Given the description of an element on the screen output the (x, y) to click on. 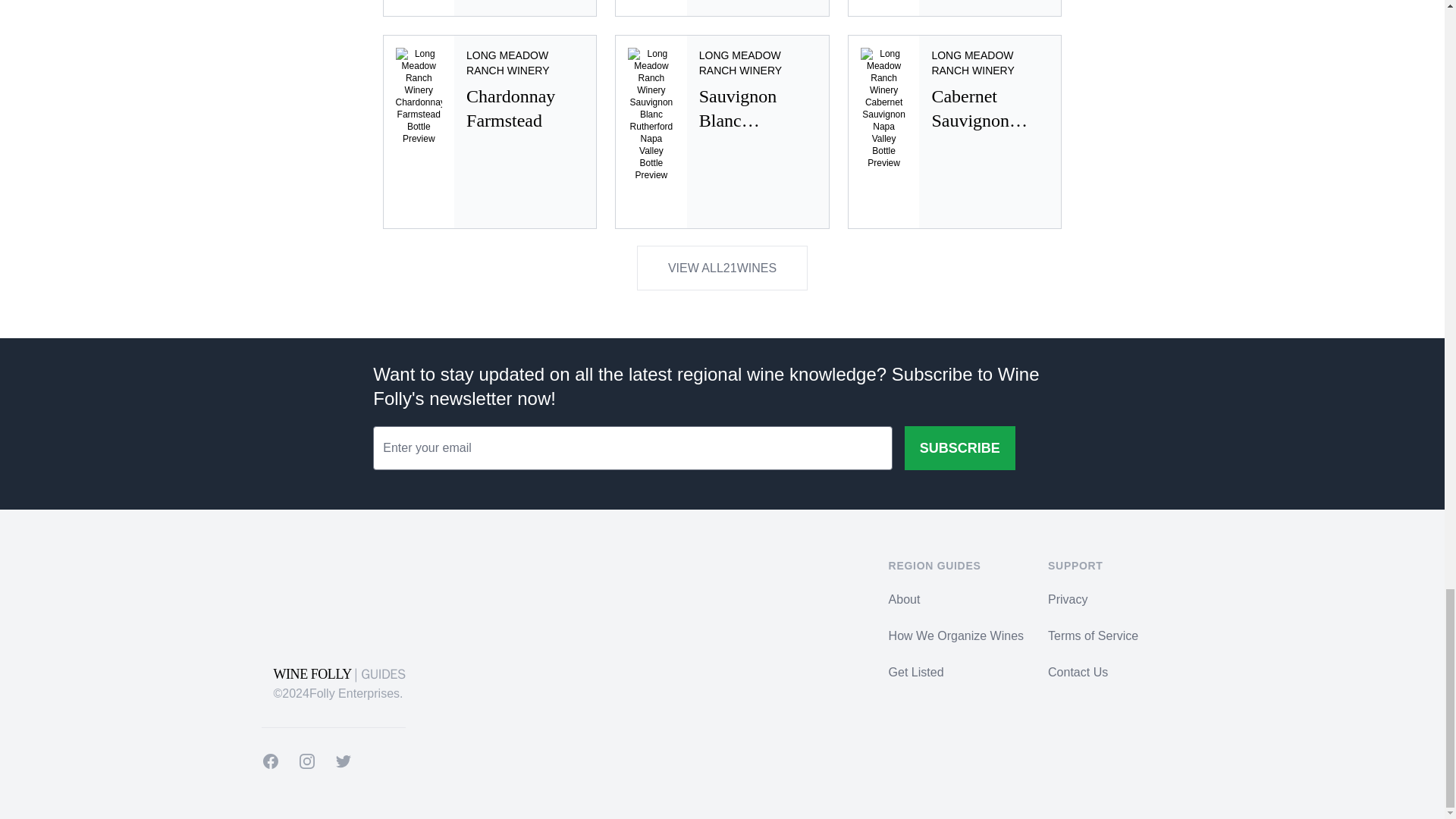
Facebook (954, 132)
VIEW ALL21WINES (488, 8)
SUBSCRIBE (488, 132)
Instagram (269, 761)
